Given the description of an element on the screen output the (x, y) to click on. 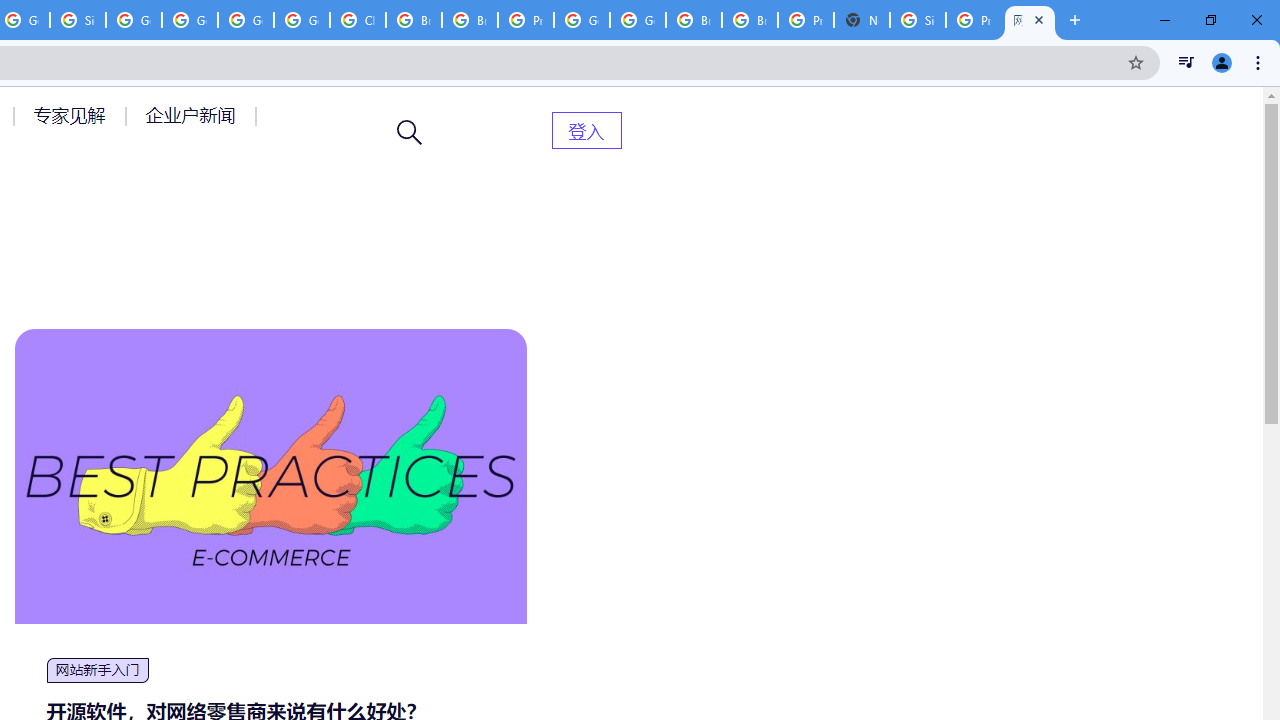
Browse Chrome as a guest - Computer - Google Chrome Help (469, 20)
AutomationID: menu-item-77764 (72, 115)
Sign in - Google Accounts (917, 20)
Browse Chrome as a guest - Computer - Google Chrome Help (413, 20)
Open search form (410, 132)
New Tab (861, 20)
